Given the description of an element on the screen output the (x, y) to click on. 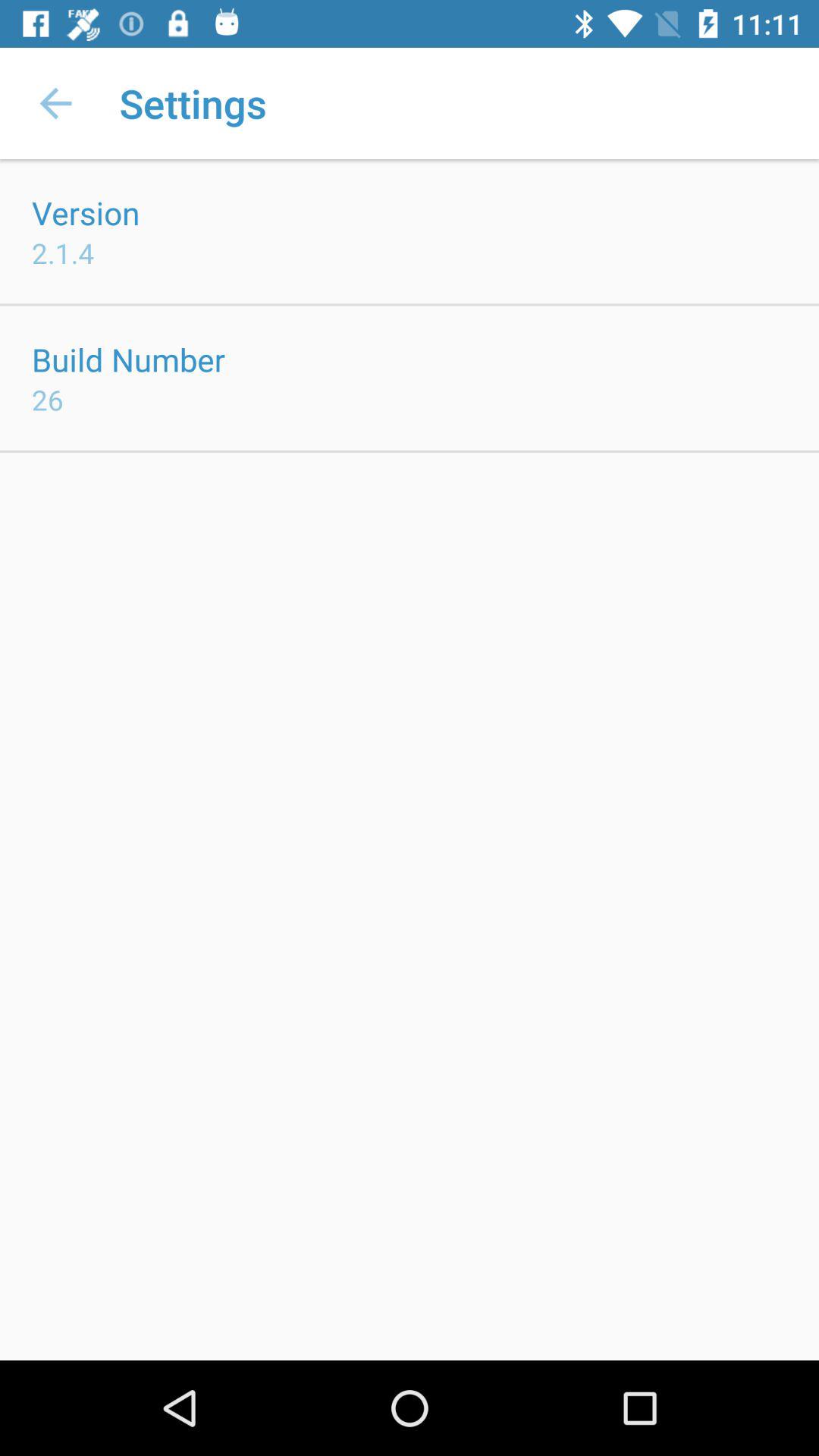
turn off the 2.1.4 item (62, 252)
